Given the description of an element on the screen output the (x, y) to click on. 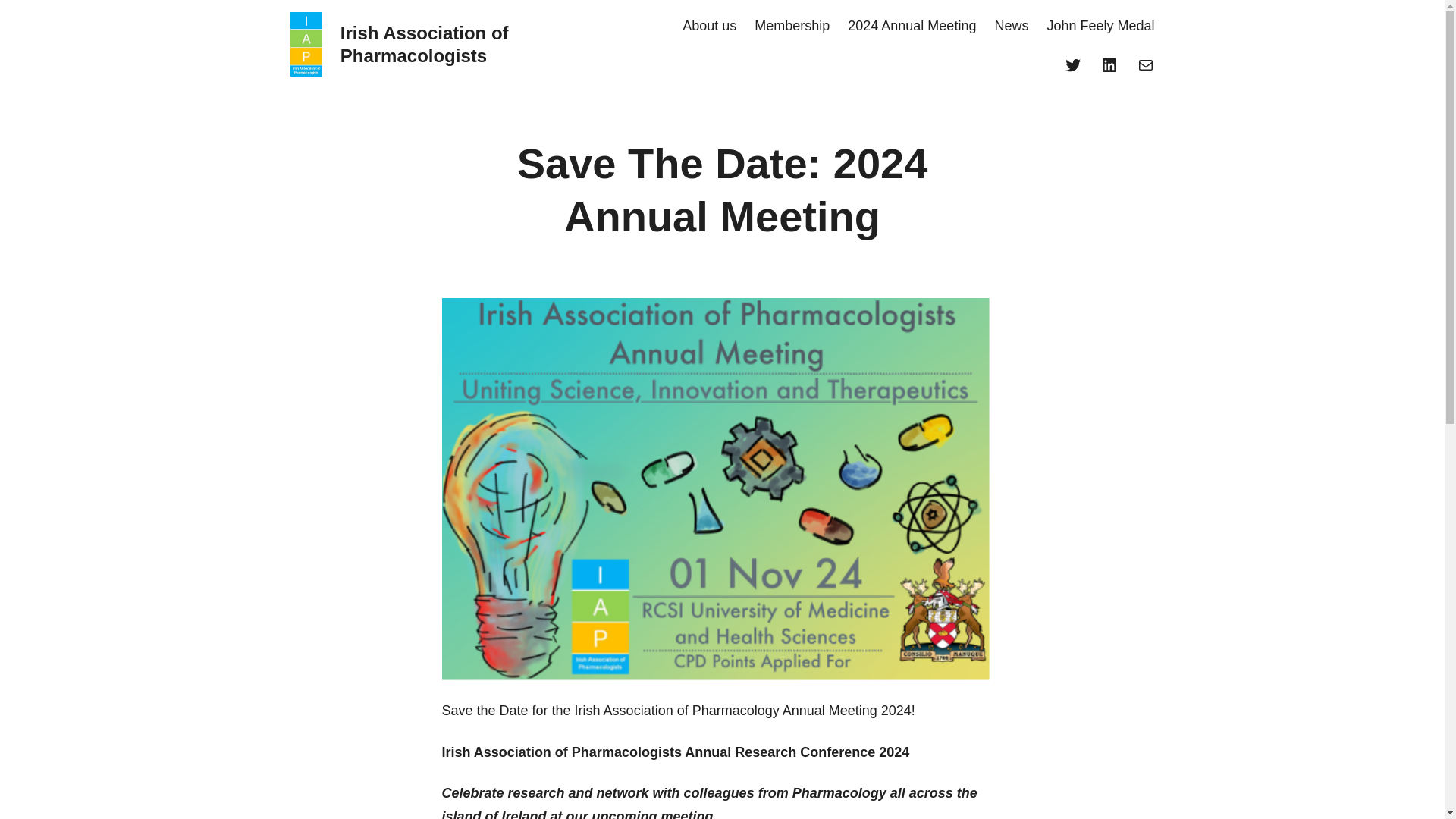
Membership (791, 25)
Twitter (1071, 65)
Irish Association of Pharmacologists (424, 44)
LinkedIn (1108, 65)
Mail (1144, 65)
About us (709, 25)
John Feely Medal (1100, 25)
2024 Annual Meeting (911, 25)
News (1010, 25)
